Given the description of an element on the screen output the (x, y) to click on. 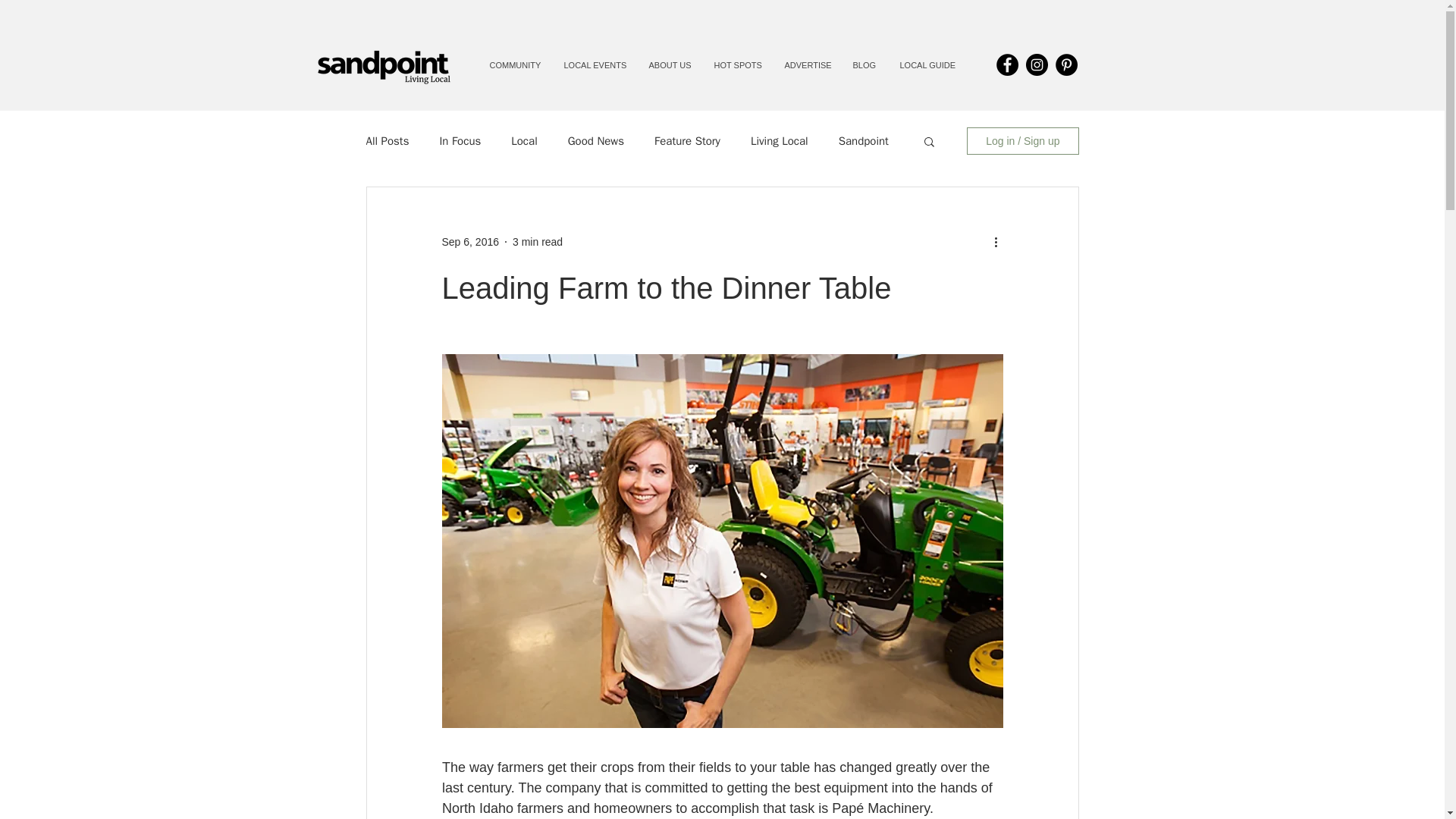
HOT SPOTS (737, 64)
ABOUT US (669, 64)
LOCAL EVENTS (594, 64)
